Given the description of an element on the screen output the (x, y) to click on. 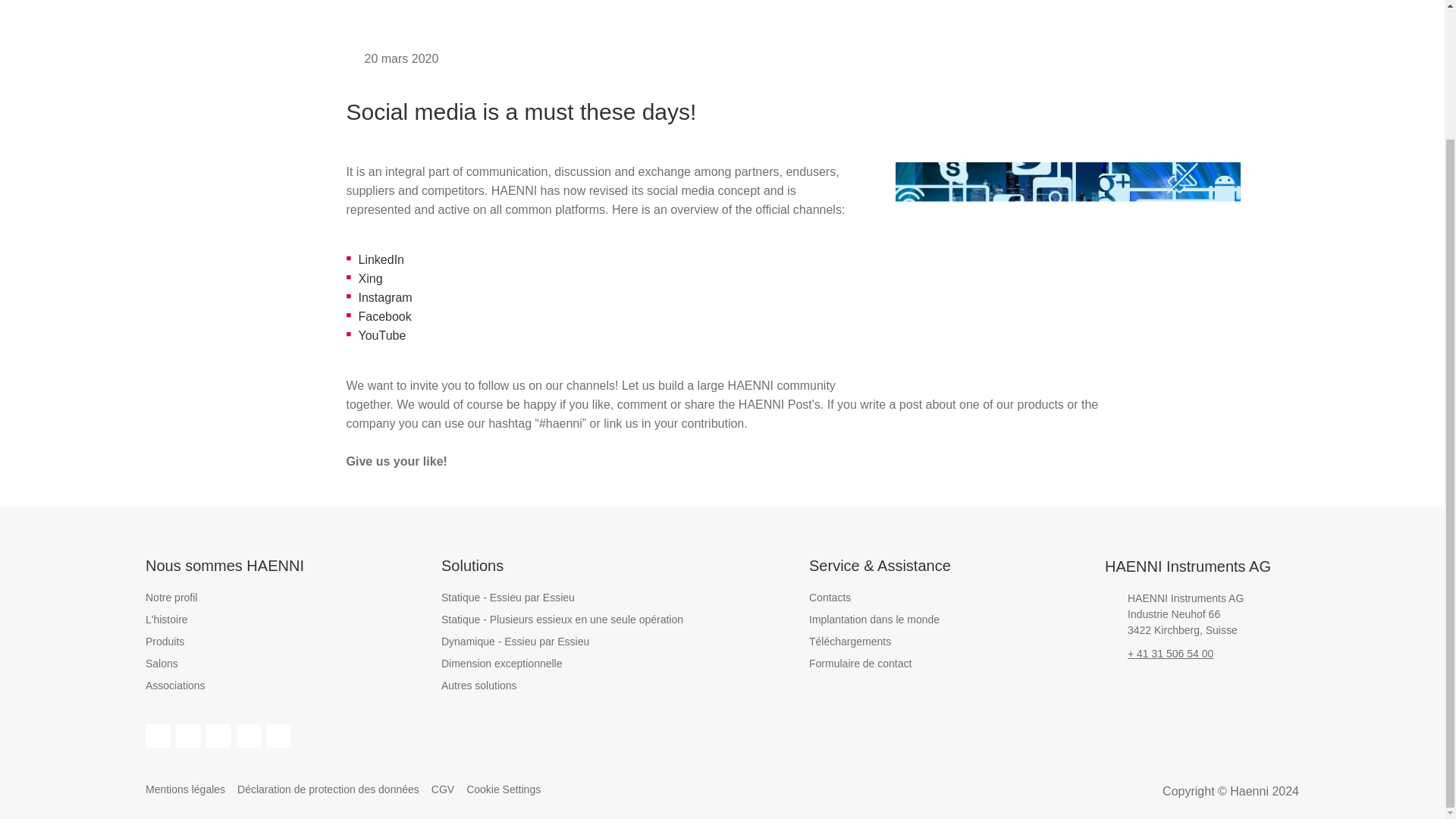
linkedin (188, 735)
instagram (218, 735)
youtube (278, 735)
facebook (157, 735)
xing (247, 735)
